Given the description of an element on the screen output the (x, y) to click on. 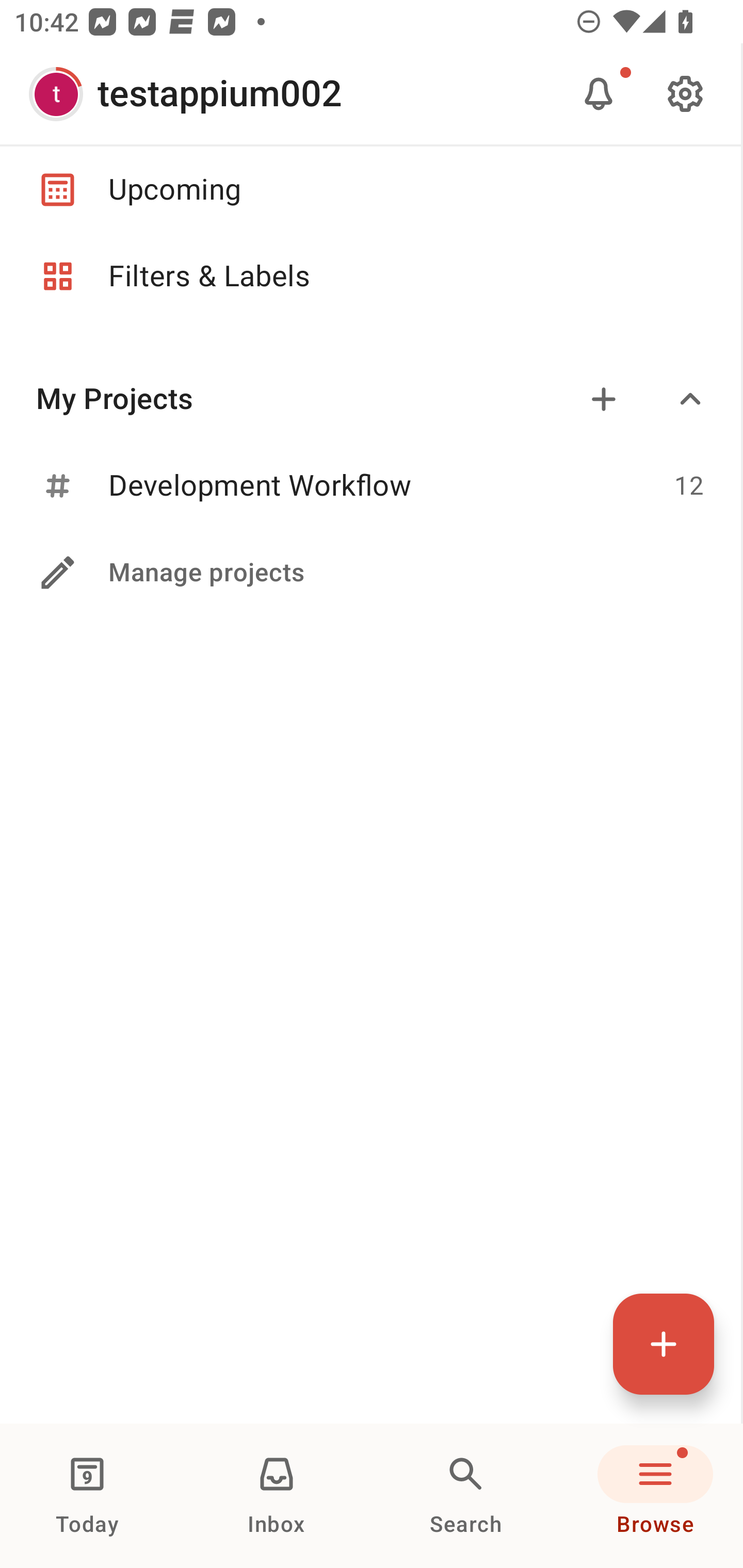
Notifications (598, 93)
Settings (684, 93)
Upcoming (370, 189)
Filters & Labels (370, 276)
My Projects Add Expand/collapse (370, 398)
Add (603, 398)
Expand/collapse (690, 398)
Development Workflow 12 (370, 485)
Manage projects (370, 572)
Quick add (663, 1343)
Today (87, 1495)
Inbox (276, 1495)
Search (465, 1495)
